Given the description of an element on the screen output the (x, y) to click on. 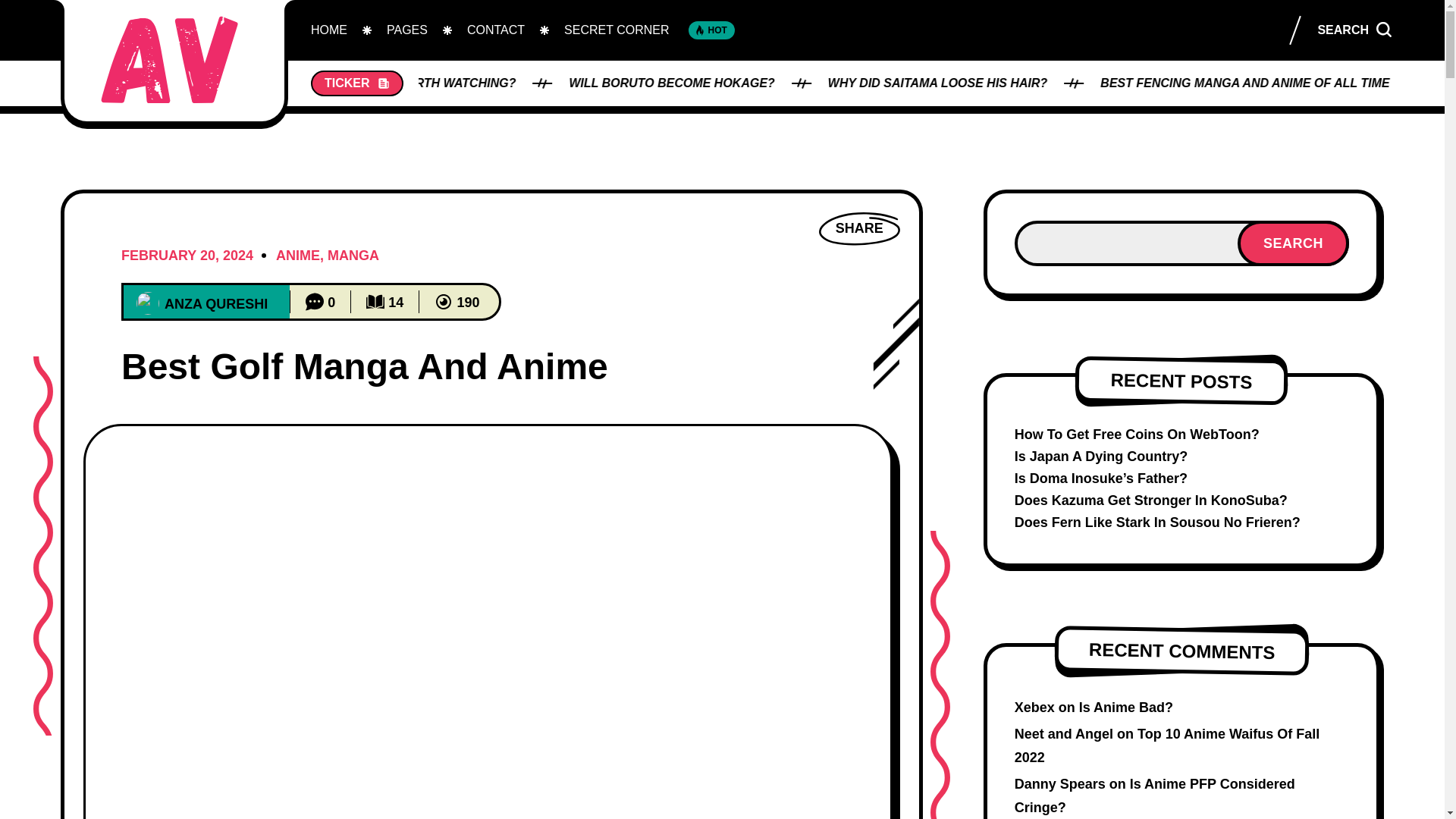
CONTACT (495, 30)
Hot Posts (710, 30)
Search (1094, 351)
PAGES (406, 30)
HOT (710, 30)
HAS SWORD ART ONLINE ENDED? (492, 82)
WILL BORUTO BECOME HOKAGE? (1005, 82)
SEARCH (1354, 29)
WHY DID SAITAMA LOOSE HIS HAIR? (1267, 82)
HOME (328, 30)
